Given the description of an element on the screen output the (x, y) to click on. 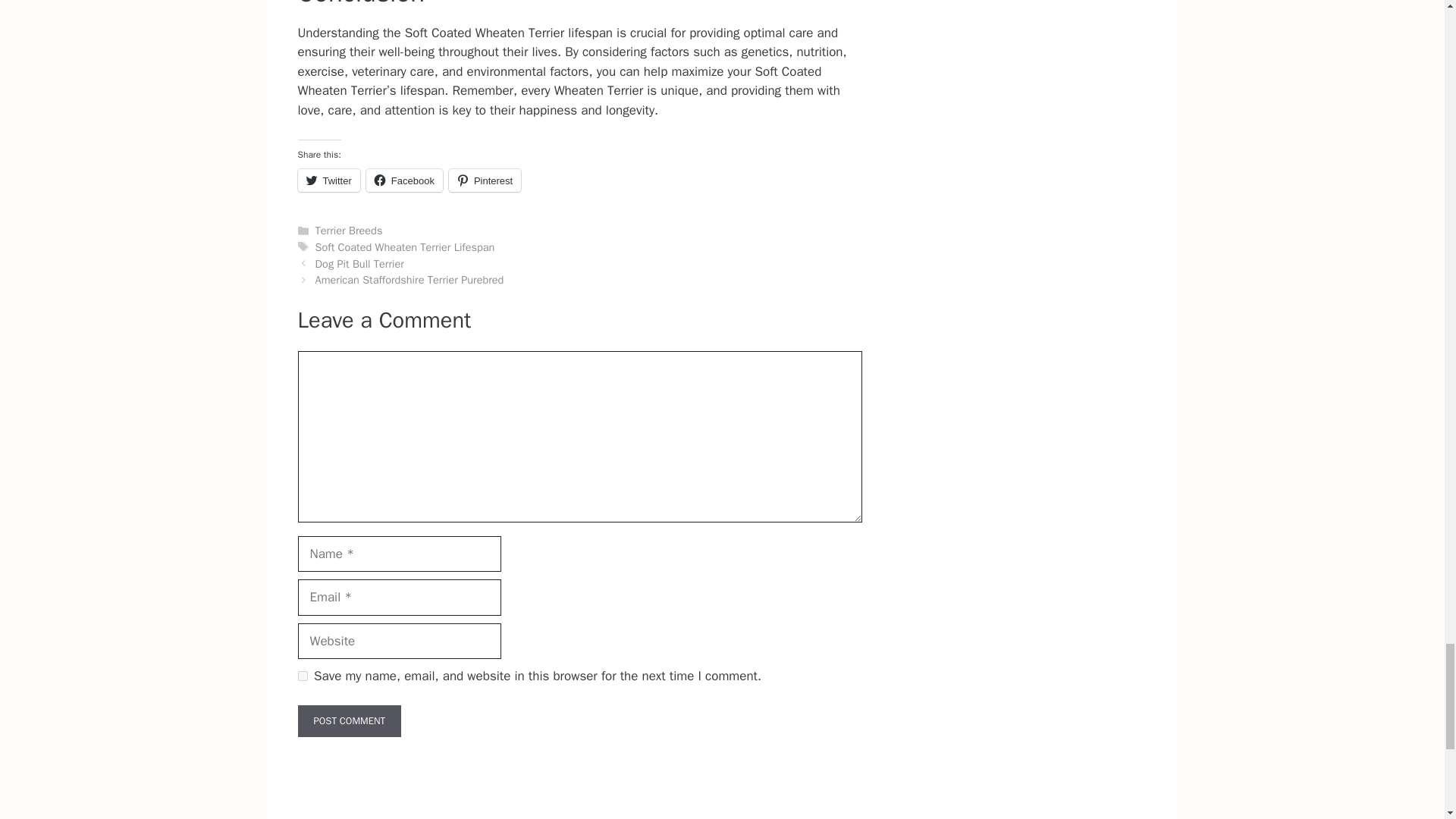
yes (302, 675)
Twitter (328, 179)
Soft Coated Wheaten Terrier Lifespan (405, 246)
American Staffordshire Terrier Purebred (409, 279)
Post Comment (349, 721)
Pinterest (484, 179)
Dog Pit Bull Terrier (359, 264)
Post Comment (349, 721)
Terrier Breeds (348, 230)
Facebook (404, 179)
